Given the description of an element on the screen output the (x, y) to click on. 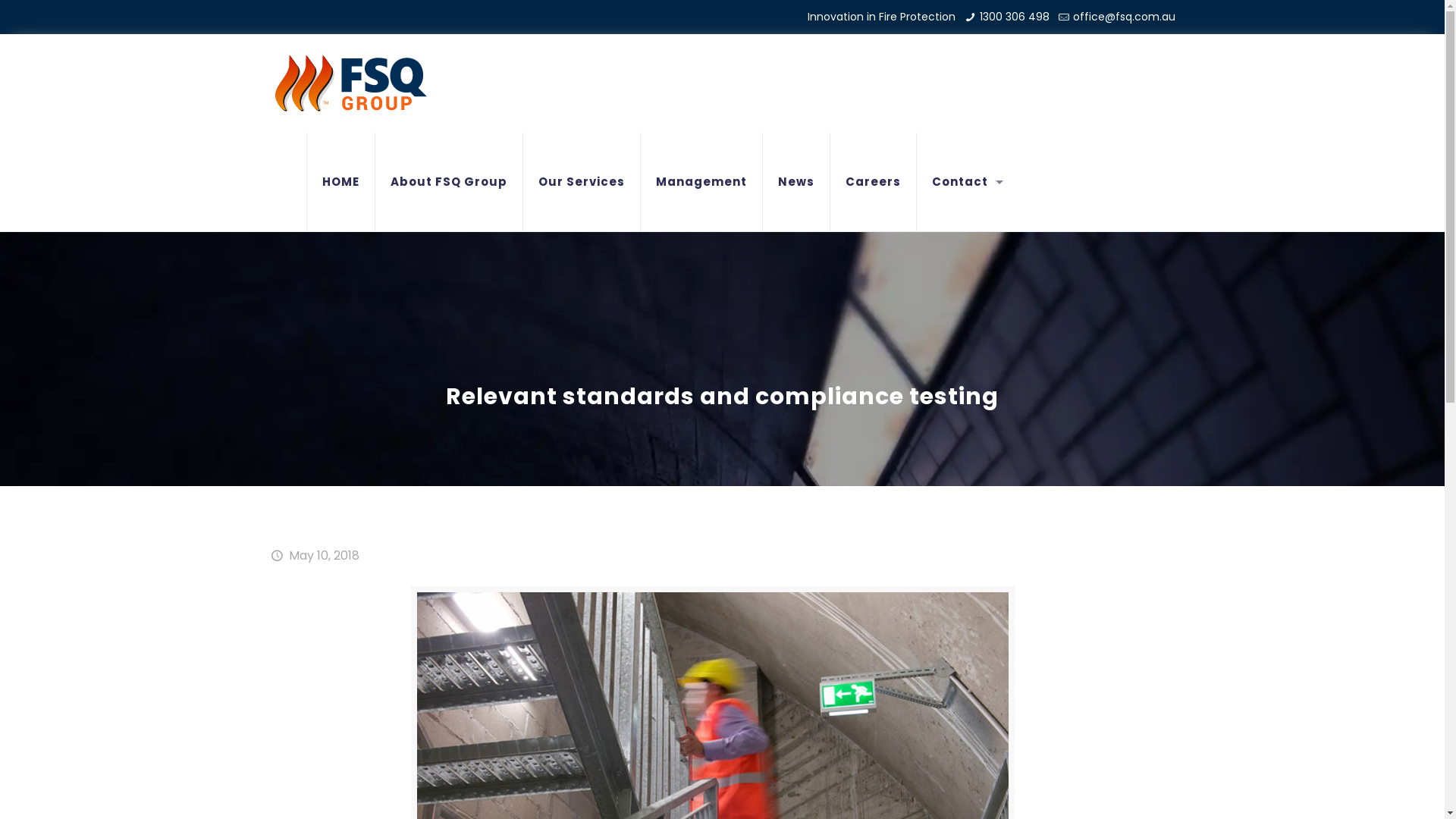
Our Services Element type: text (581, 181)
Careers Element type: text (872, 181)
Contact Element type: text (963, 181)
News Element type: text (796, 181)
FSQ Group Element type: hover (350, 83)
1300 306 498 Element type: text (1014, 16)
Management Element type: text (701, 181)
About FSQ Group Element type: text (448, 181)
office@fsq.com.au Element type: text (1124, 16)
HOME Element type: text (340, 181)
